Given the description of an element on the screen output the (x, y) to click on. 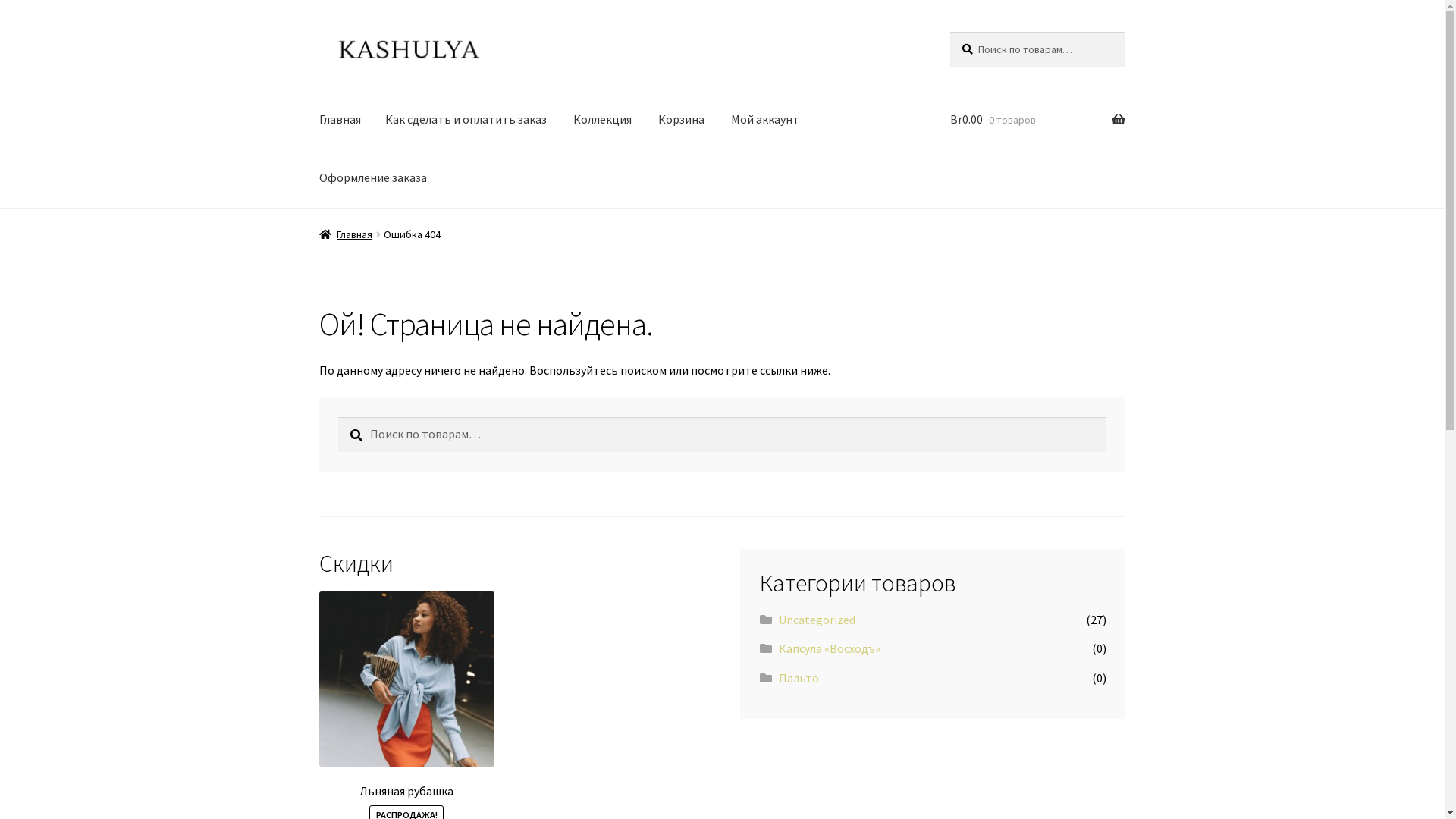
Uncategorized Element type: text (816, 619)
